Given the description of an element on the screen output the (x, y) to click on. 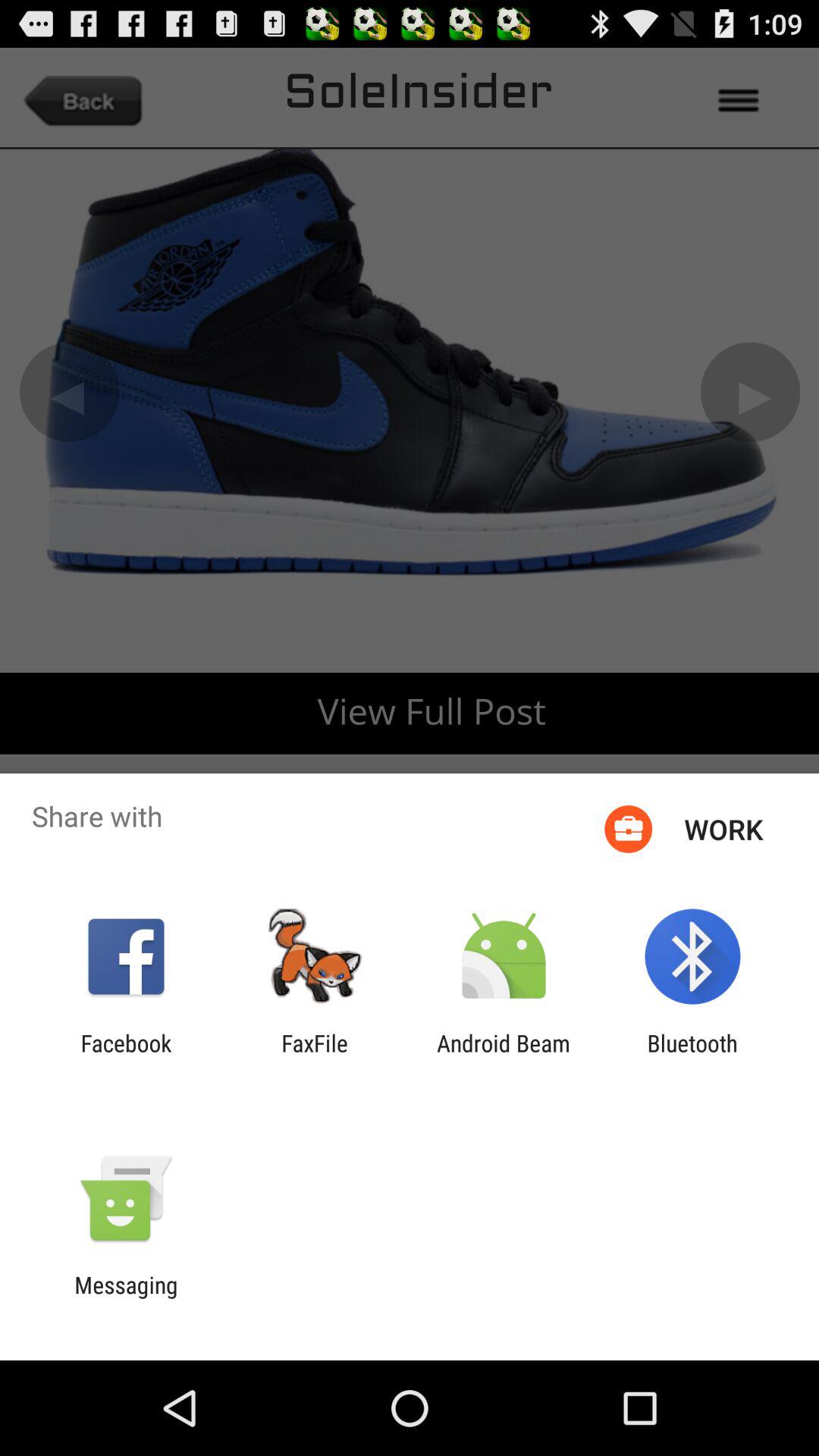
tap item to the right of android beam icon (692, 1056)
